Given the description of an element on the screen output the (x, y) to click on. 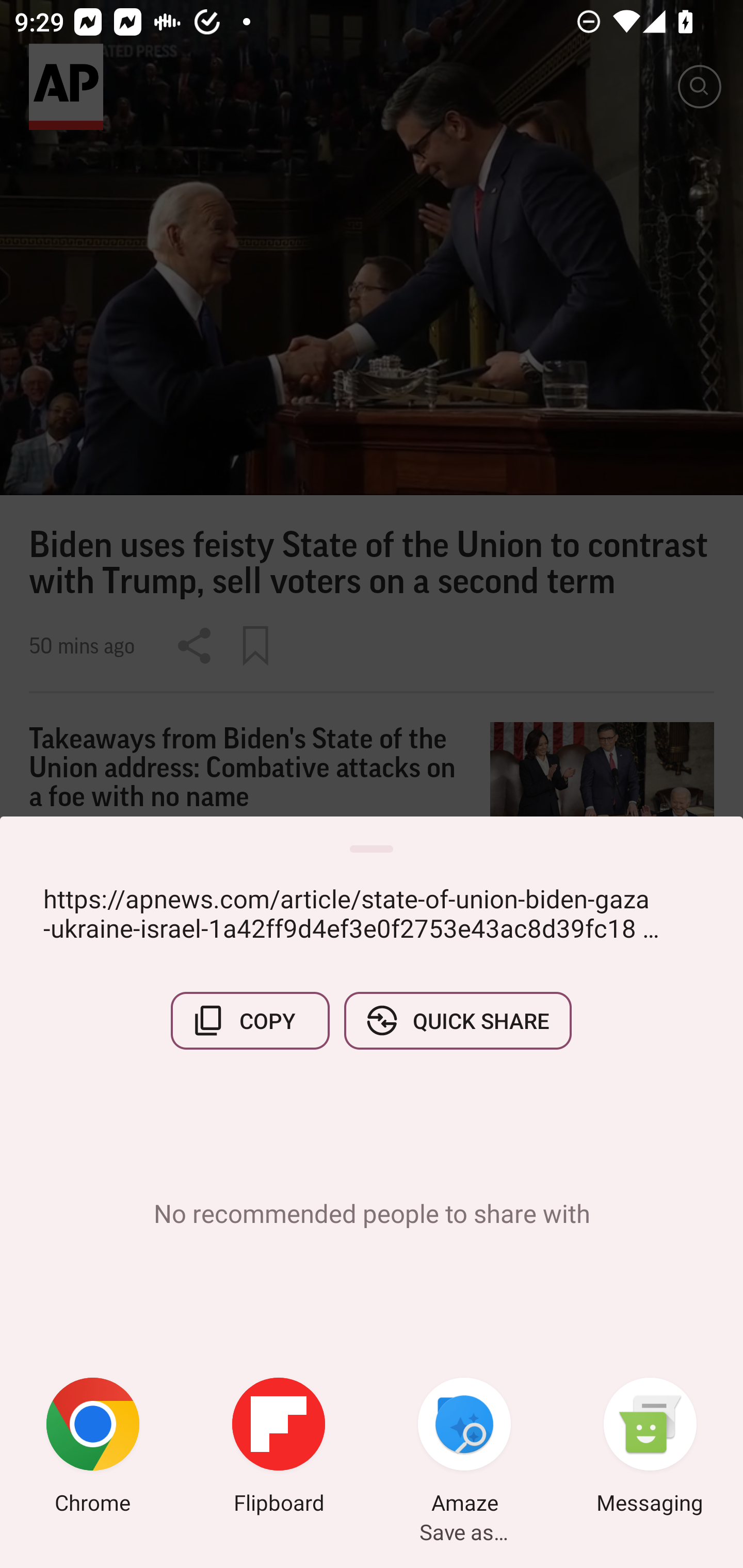
COPY (249, 1020)
QUICK SHARE (457, 1020)
Chrome (92, 1448)
Flipboard (278, 1448)
Amaze Save as… (464, 1448)
Messaging (650, 1448)
